Given the description of an element on the screen output the (x, y) to click on. 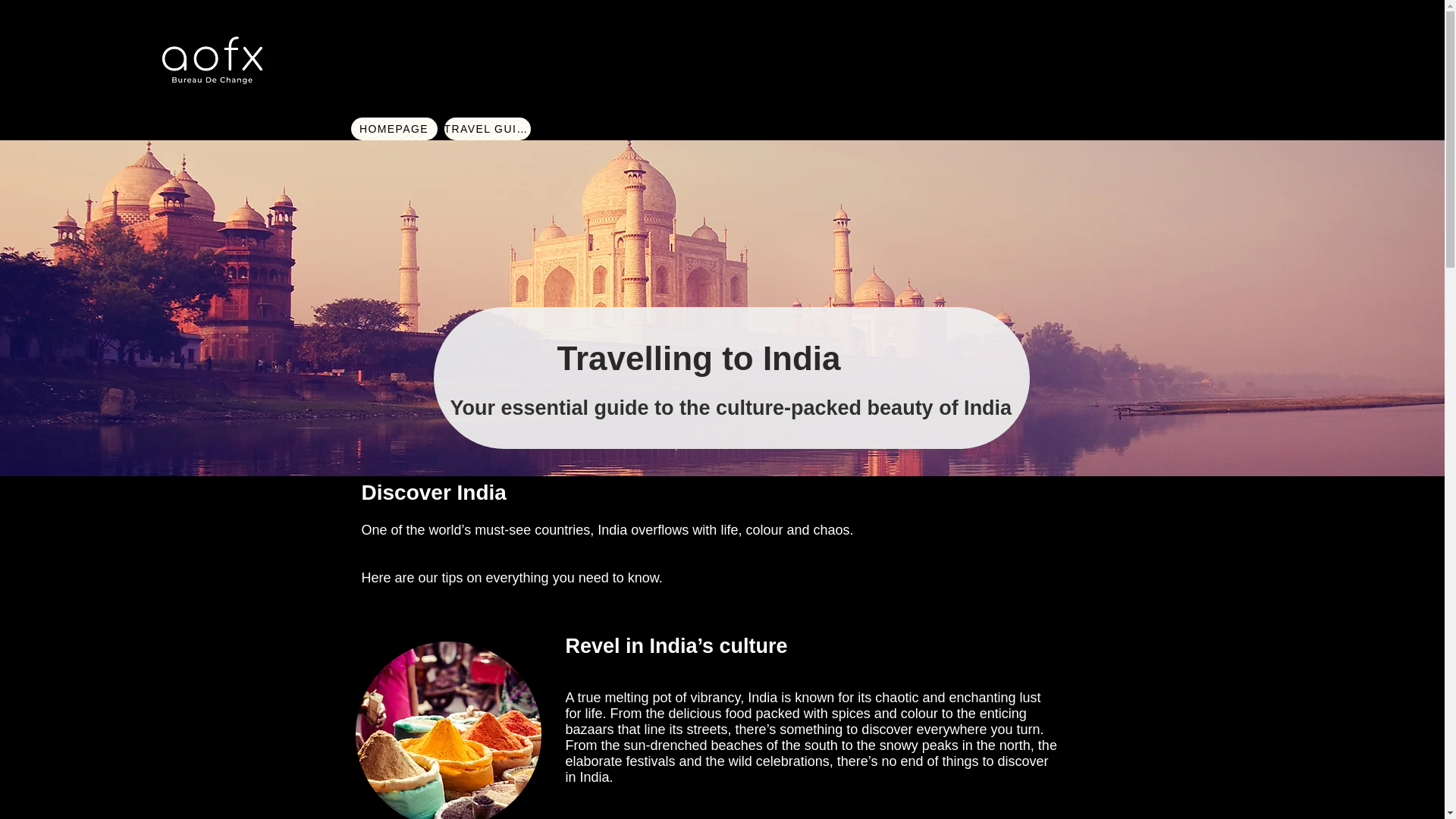
TRAVEL GUIDE (487, 128)
HOMEPAGE (393, 128)
